Given the description of an element on the screen output the (x, y) to click on. 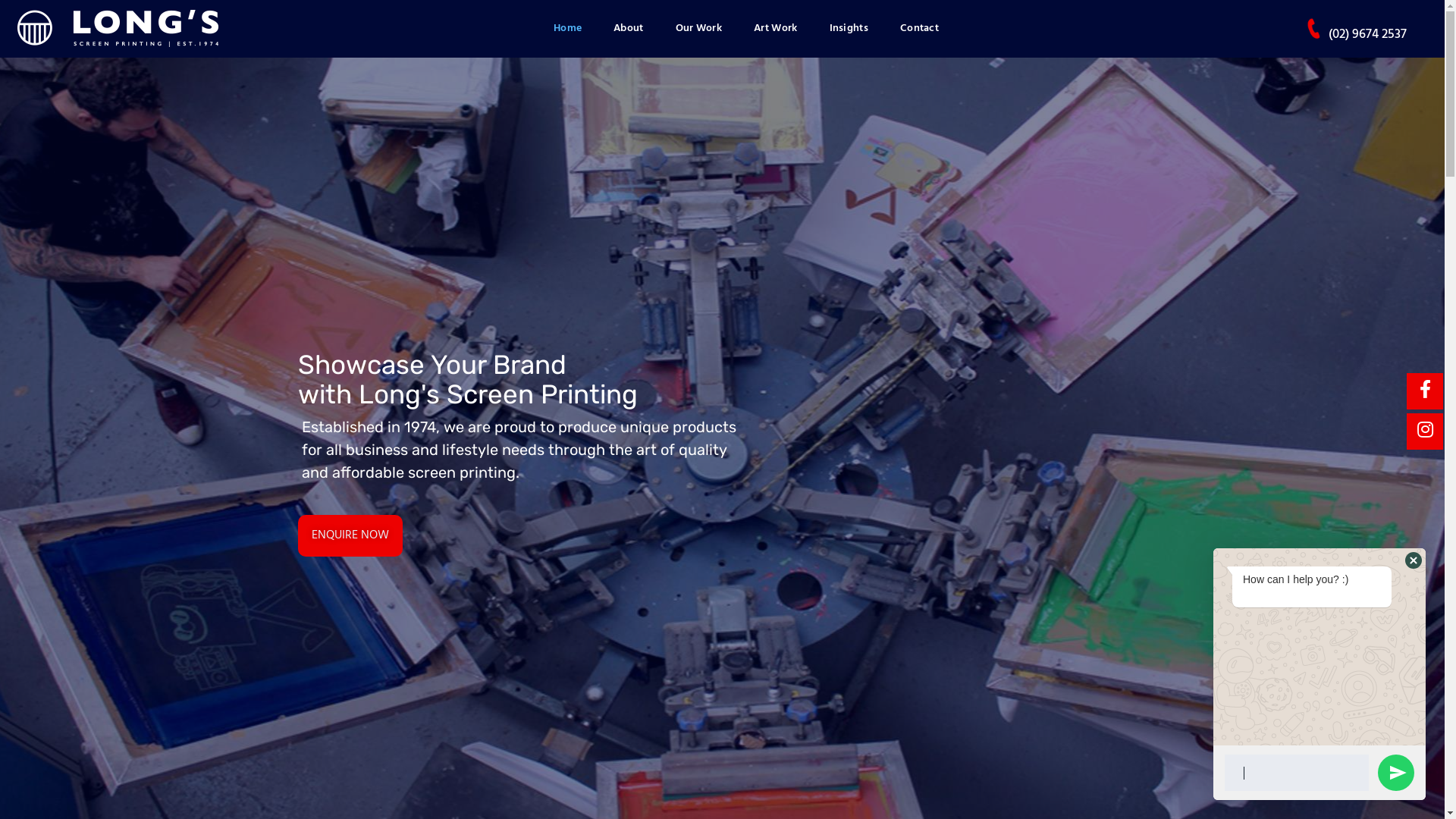
(02) 9674 2537 Element type: text (1367, 34)
About Element type: text (628, 28)
Home Element type: text (567, 28)
Our Work Element type: text (698, 28)
Insights Element type: text (848, 28)
Contact Element type: text (919, 28)
ENQUIRE NOW Element type: text (349, 535)
Art Work Element type: text (775, 28)
